Given the description of an element on the screen output the (x, y) to click on. 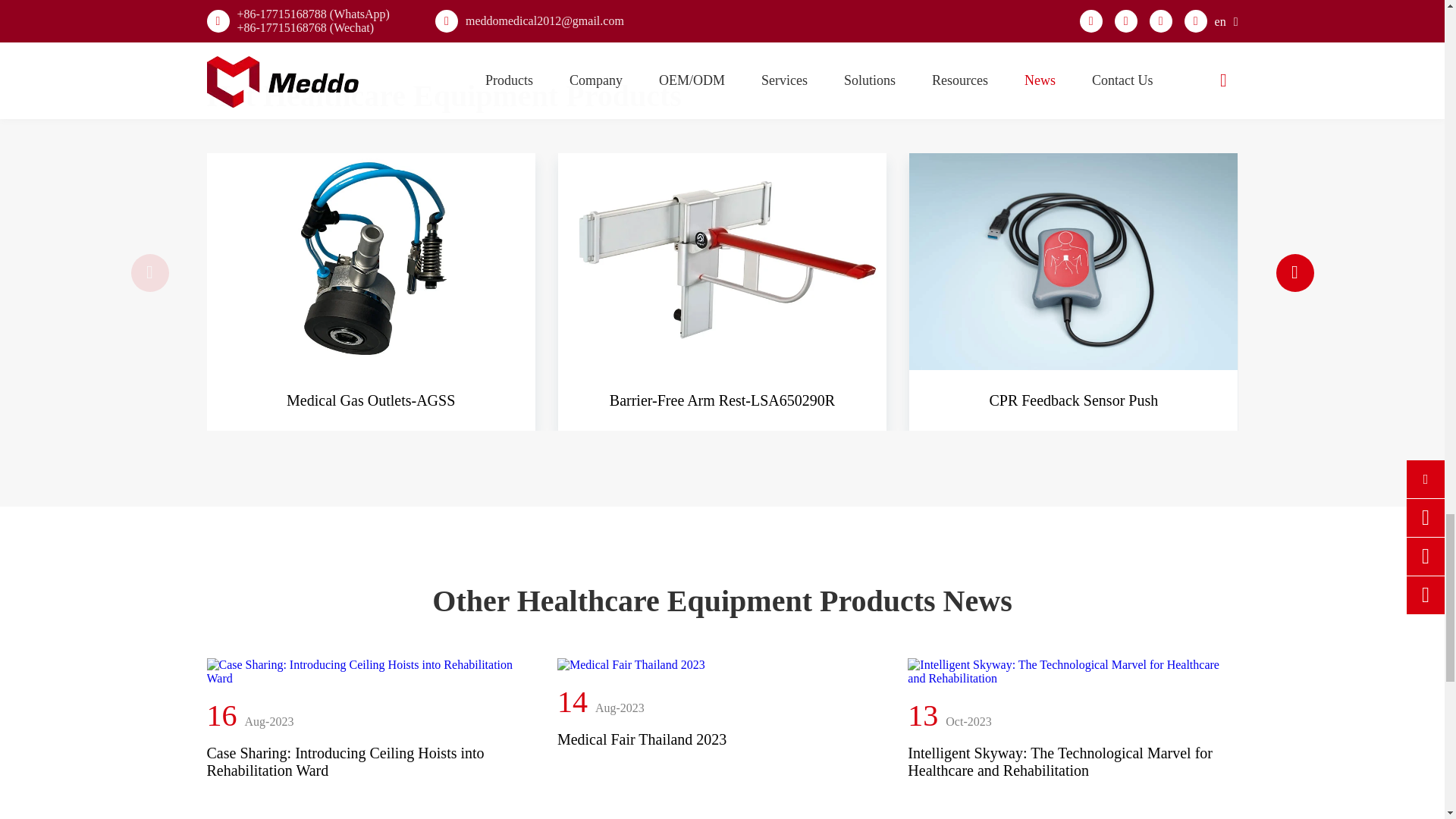
Medical Gas Outlets-AGSS (370, 261)
Barrier-Free Arm Rest-LSA650290R (721, 261)
CPR Feedback Sensor Push (1072, 261)
